Given the description of an element on the screen output the (x, y) to click on. 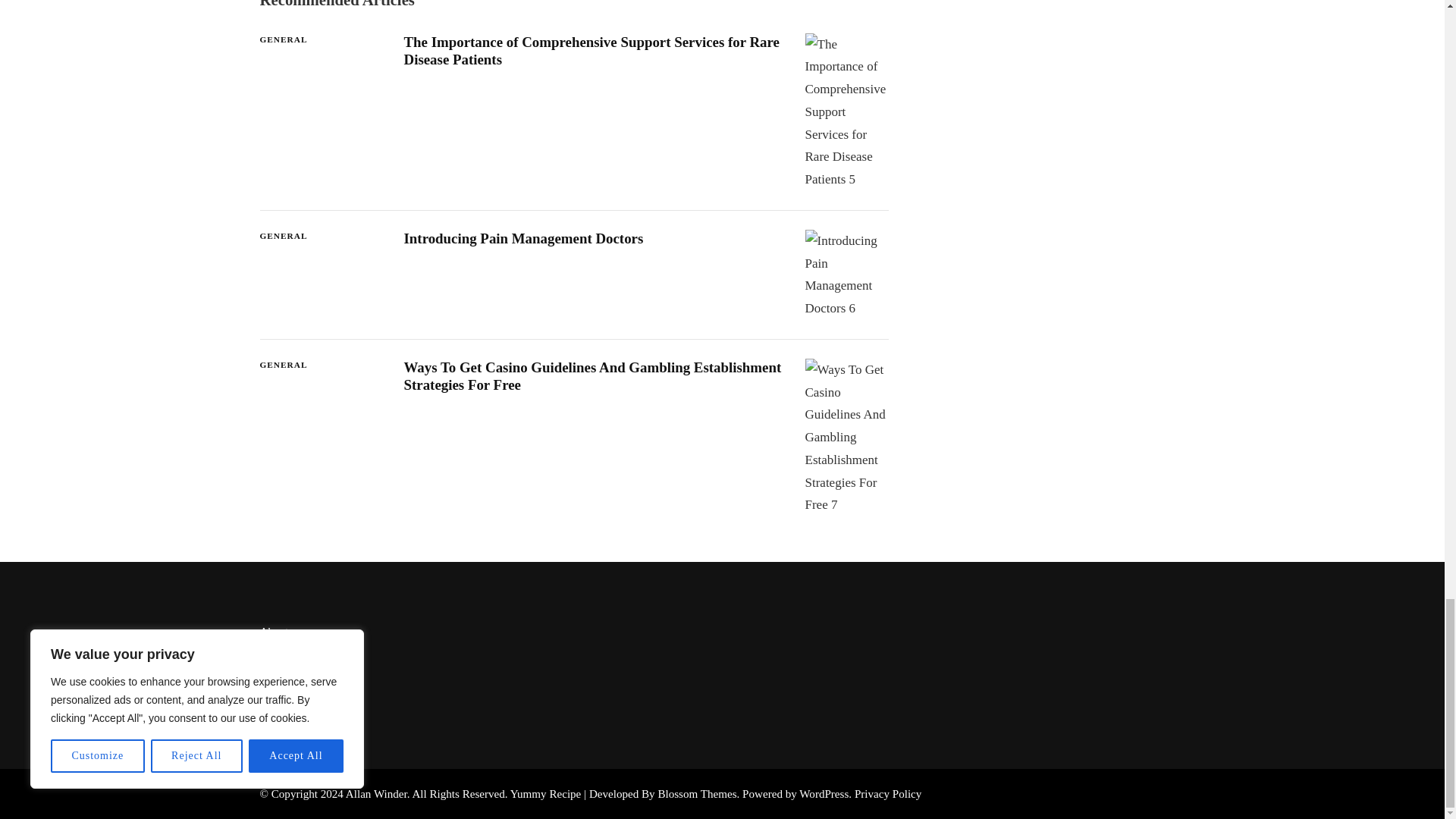
GENERAL (283, 39)
